Given the description of an element on the screen output the (x, y) to click on. 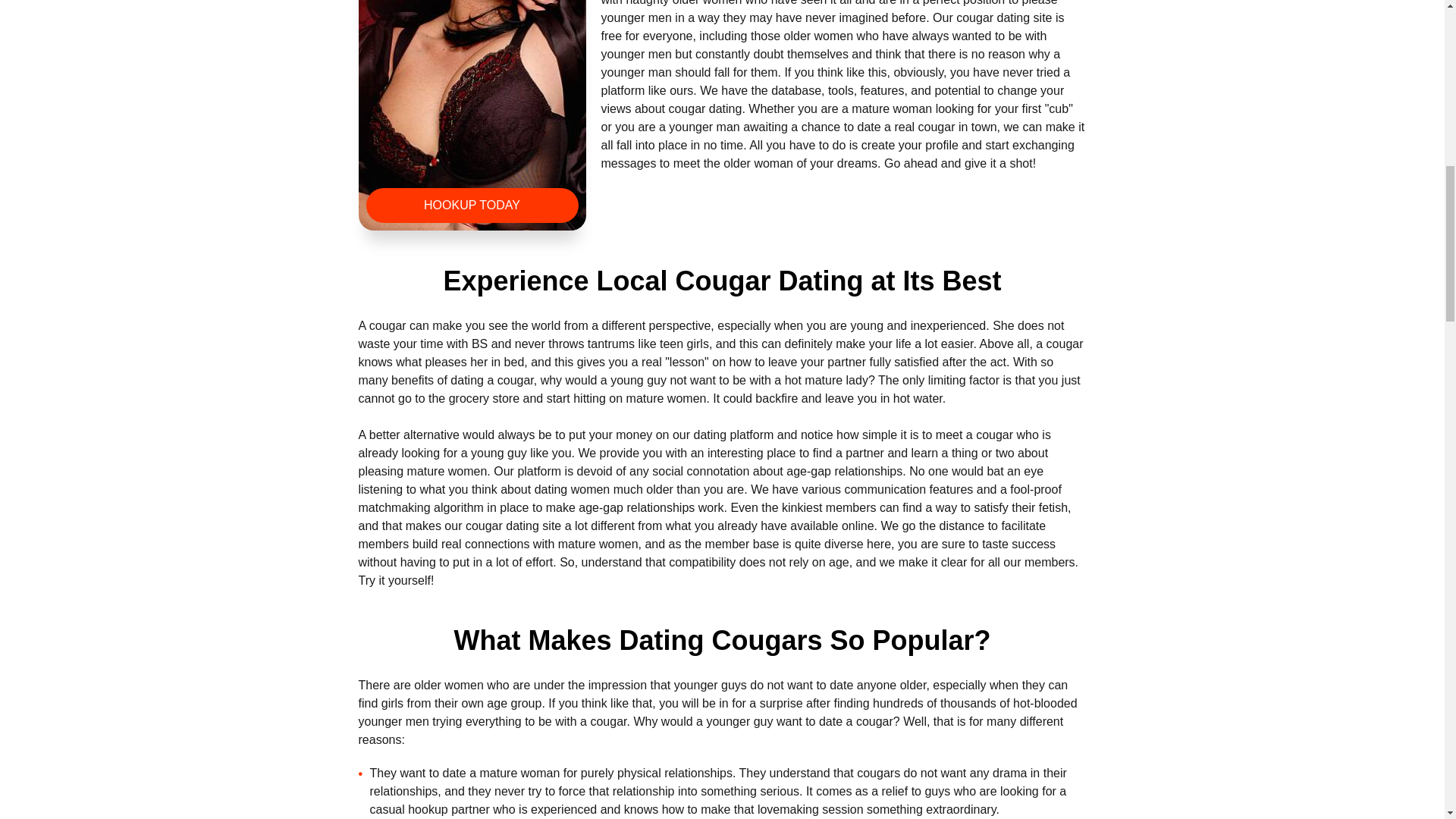
HOOKUP TODAY (471, 205)
